Given the description of an element on the screen output the (x, y) to click on. 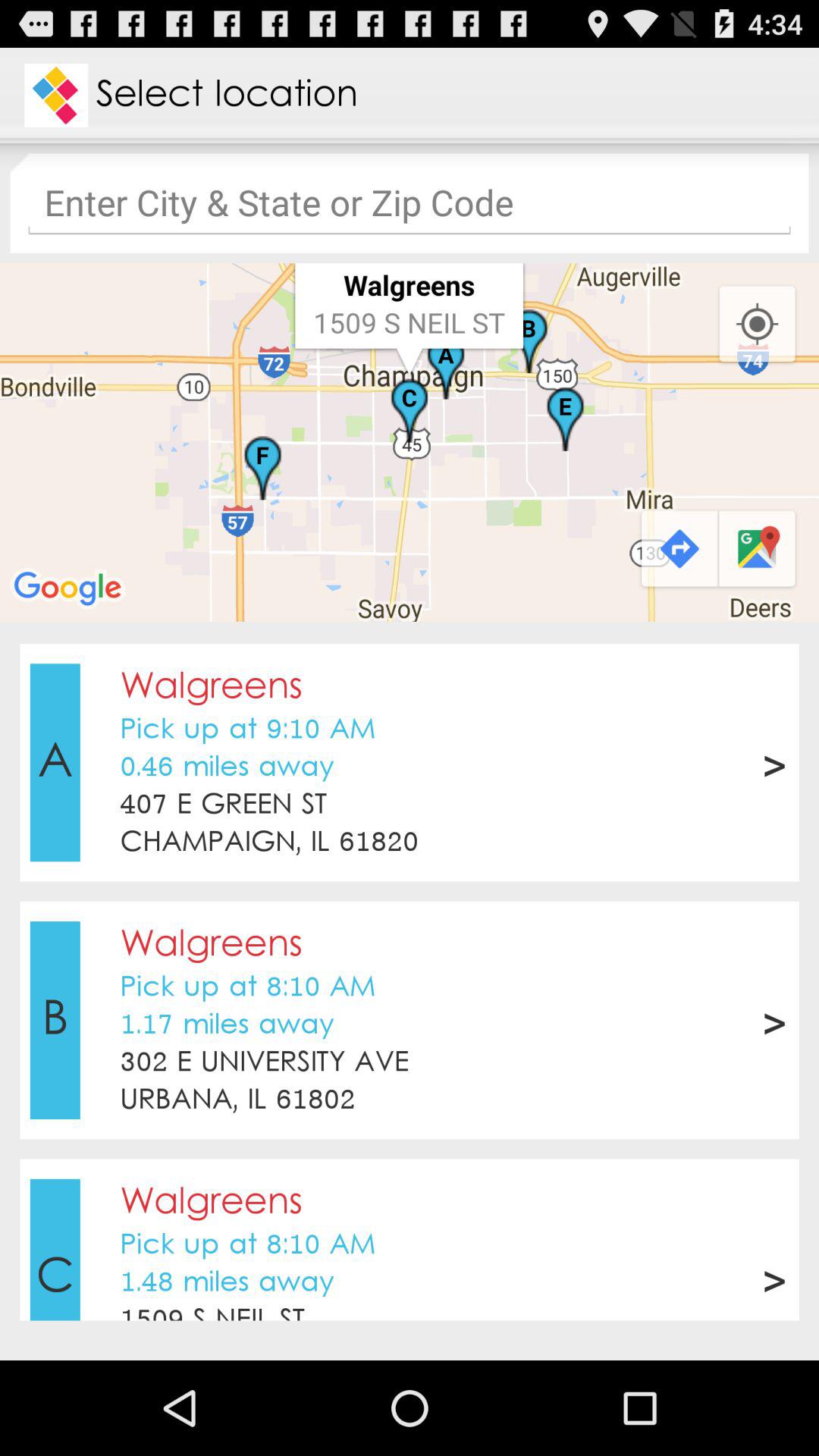
turn off icon above walgreens (409, 1129)
